Given the description of an element on the screen output the (x, y) to click on. 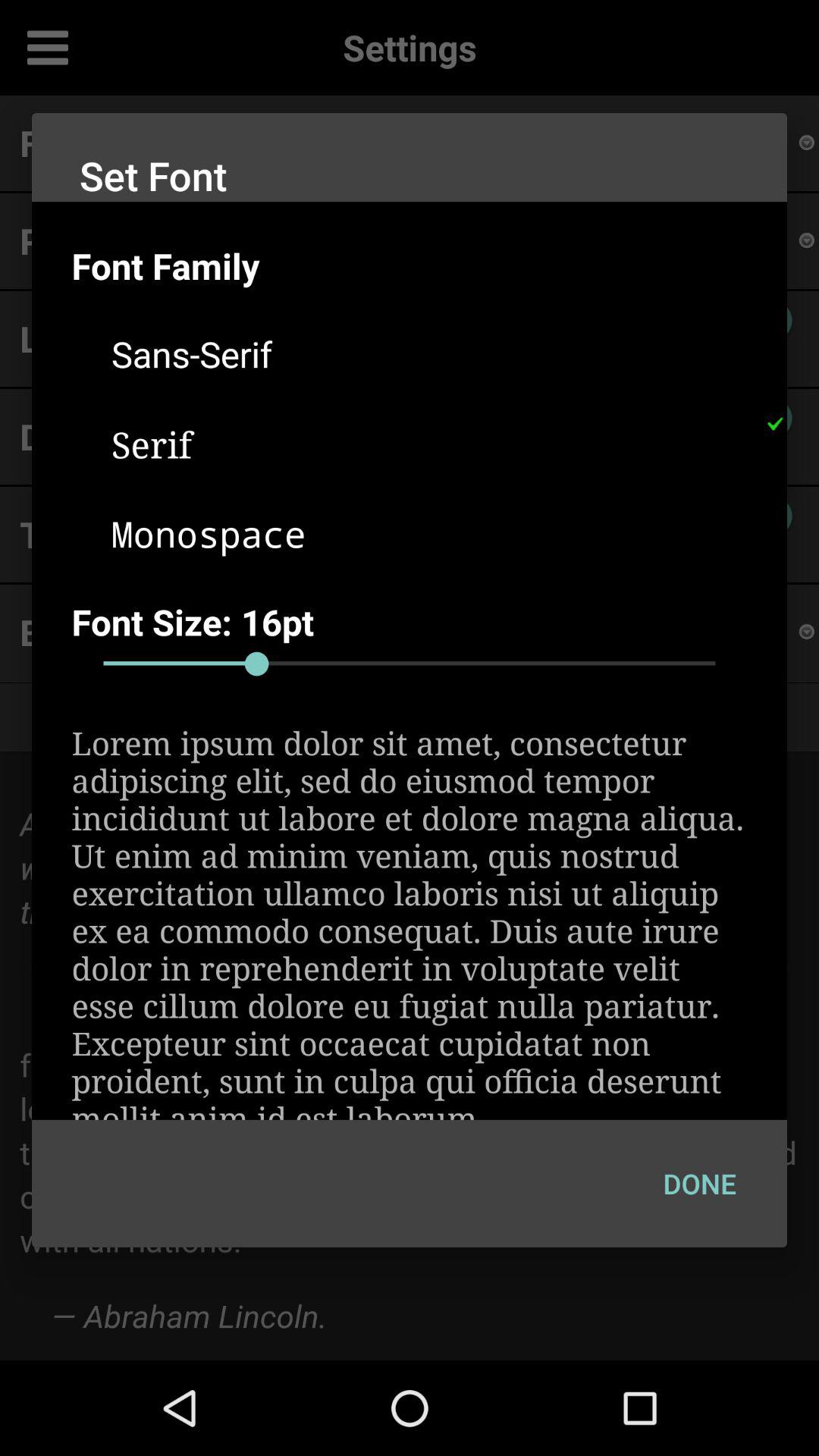
press item above the done icon (409, 920)
